Given the description of an element on the screen output the (x, y) to click on. 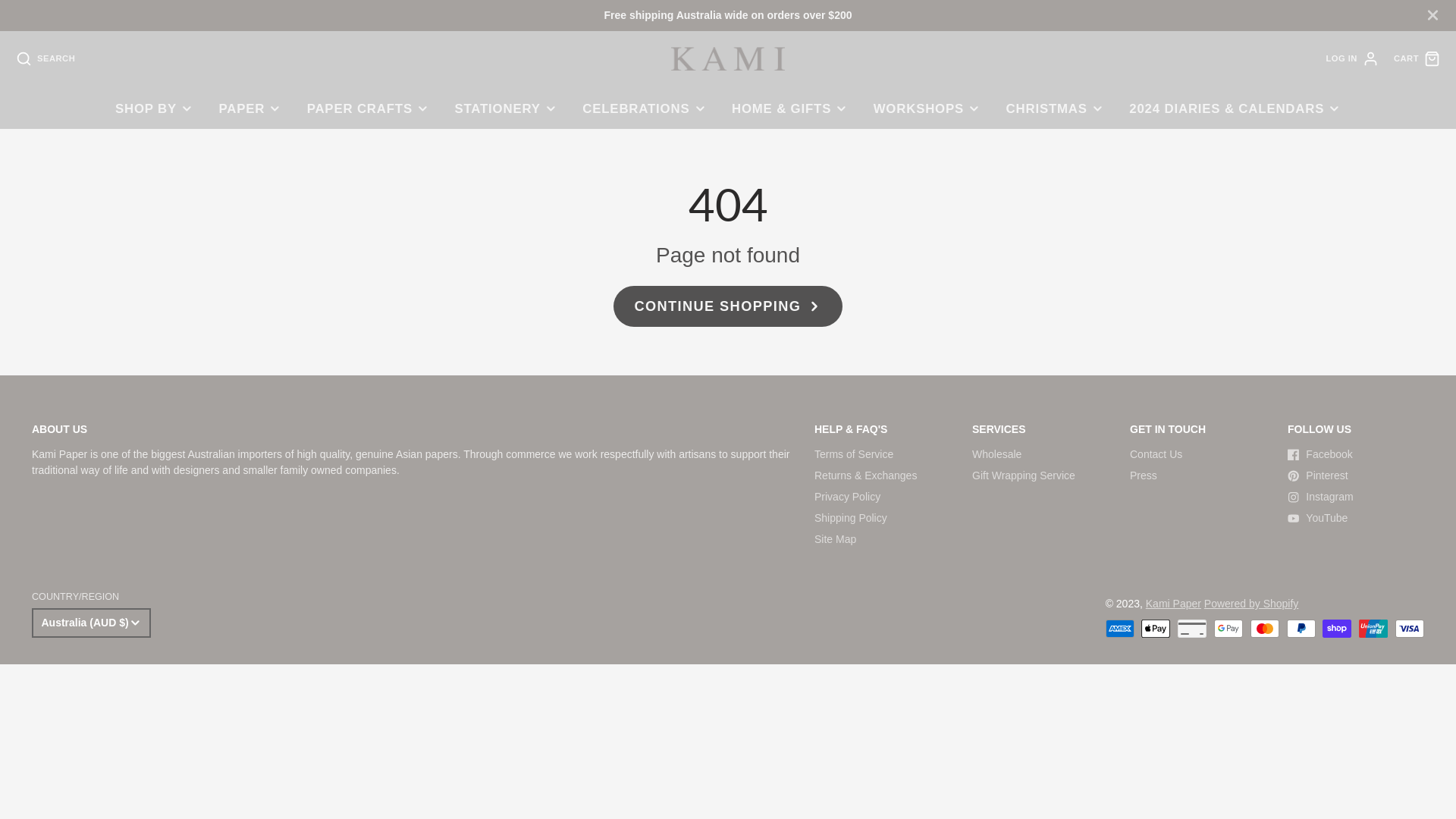
WORKSHOPS Element type: text (926, 108)
CELEBRATIONS Element type: text (643, 108)
Contact Us Element type: text (1155, 454)
CHRISTMAS Element type: text (1055, 108)
Powered by Shopify Element type: text (1251, 603)
Kami Paper Element type: text (1173, 603)
Facebook Element type: text (1355, 454)
HOME & GIFTS Element type: text (789, 108)
Gift Wrapping Service Element type: text (1023, 475)
PAPER CRAFTS Element type: text (368, 108)
Pinterest Element type: text (1355, 475)
CART Element type: text (1416, 58)
Wholesale Element type: text (996, 454)
PAPER Element type: text (250, 108)
Instagram Element type: text (1355, 497)
Press Element type: text (1143, 475)
Terms of Service Element type: text (853, 454)
Returns & Exchanges Element type: text (865, 475)
Privacy Policy Element type: text (847, 496)
LOG IN Element type: text (1351, 58)
SEARCH Element type: text (45, 58)
Australia (AUD $) Element type: text (90, 622)
SHOP BY Element type: text (154, 108)
Site Map Element type: text (835, 539)
2024 DIARIES & CALENDARS Element type: text (1234, 108)
YouTube Element type: text (1355, 518)
STATIONERY Element type: text (506, 108)
CONTINUE SHOPPING Element type: text (727, 306)
Shipping Policy Element type: text (850, 517)
